Given the description of an element on the screen output the (x, y) to click on. 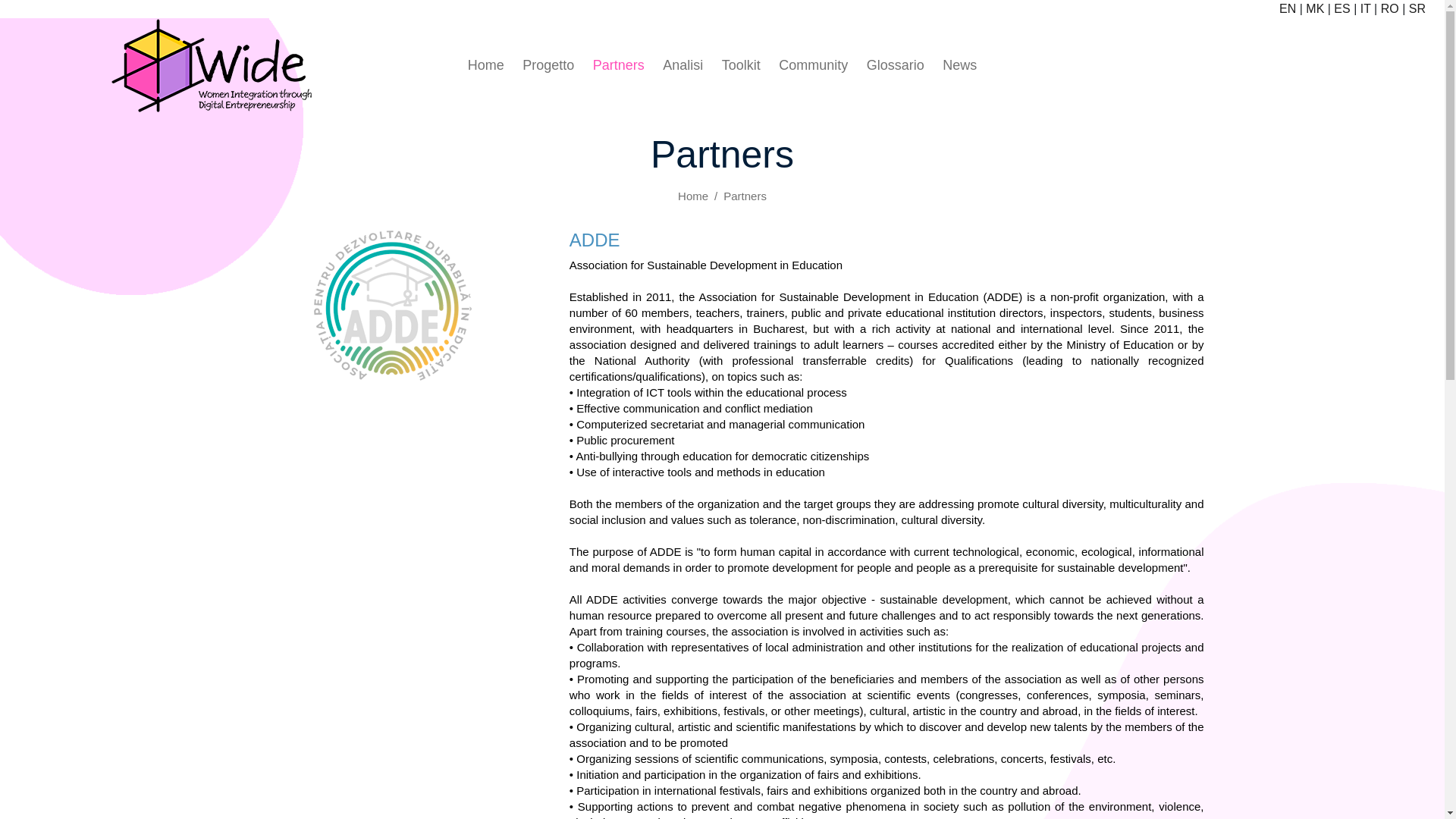
Home (692, 195)
Glossario (895, 65)
Toolkit (741, 65)
MK (1314, 8)
EN (1287, 8)
SR (1417, 8)
Partners (618, 65)
RO (1389, 8)
Home (485, 65)
Progetto (547, 65)
Community (812, 65)
Analisi (682, 65)
ES (1341, 8)
News (959, 65)
